Given the description of an element on the screen output the (x, y) to click on. 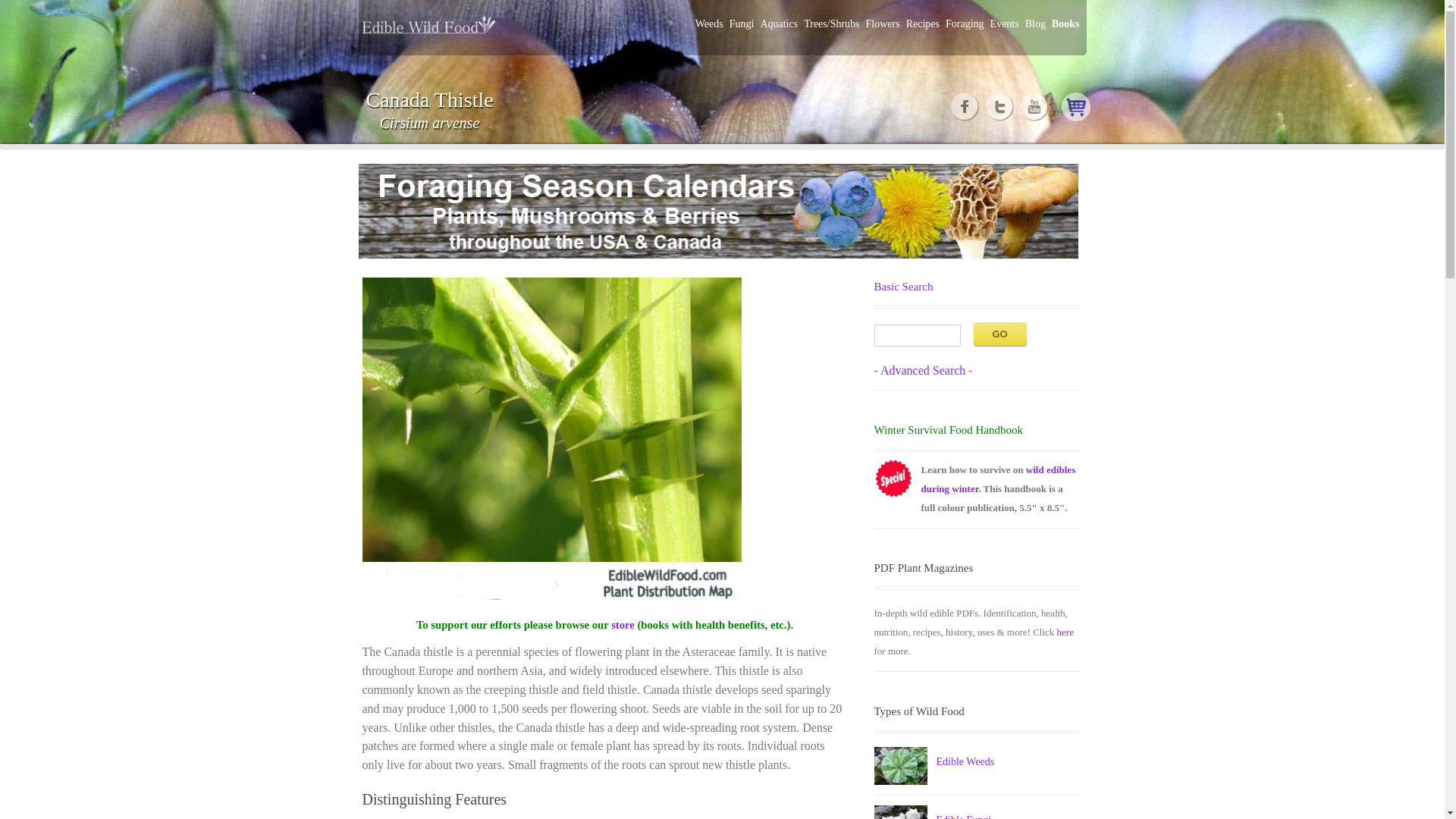
Checkout Now (1075, 106)
Recipes (922, 24)
Edible Fungi (963, 816)
Edible Weeds (965, 761)
Blog (1035, 24)
Flowers (882, 24)
Foraging (964, 24)
YouTube (1034, 106)
GO (1000, 333)
wild edibles during winter (997, 479)
